Given the description of an element on the screen output the (x, y) to click on. 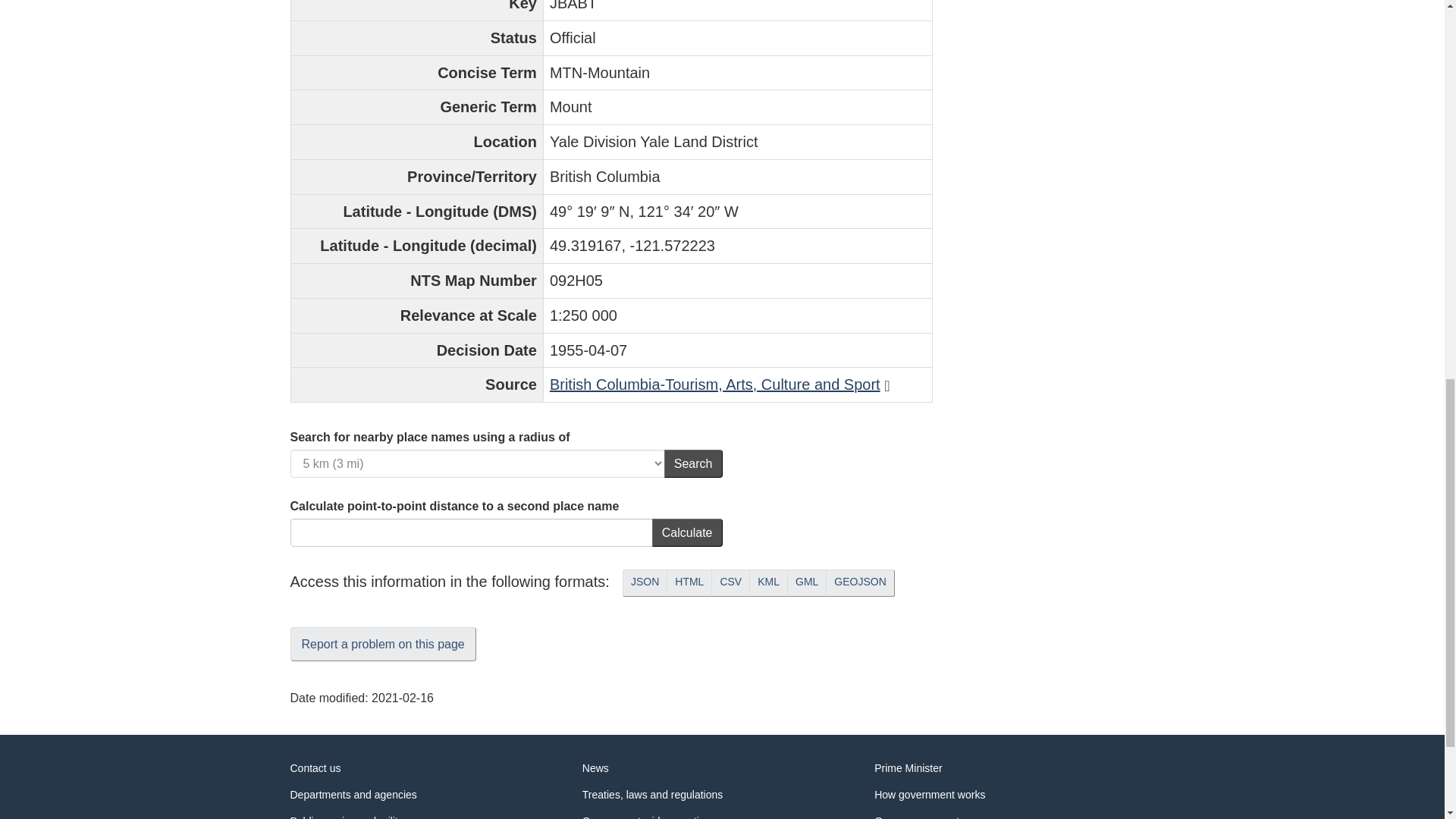
CSV (730, 583)
GEOJSON (859, 583)
Select a Radius (476, 463)
British Columbia-Tourism, Arts, Culture and Sport (715, 384)
GML (807, 583)
KML (768, 583)
HTML (688, 583)
Calculate (687, 532)
Search (692, 463)
